Given the description of an element on the screen output the (x, y) to click on. 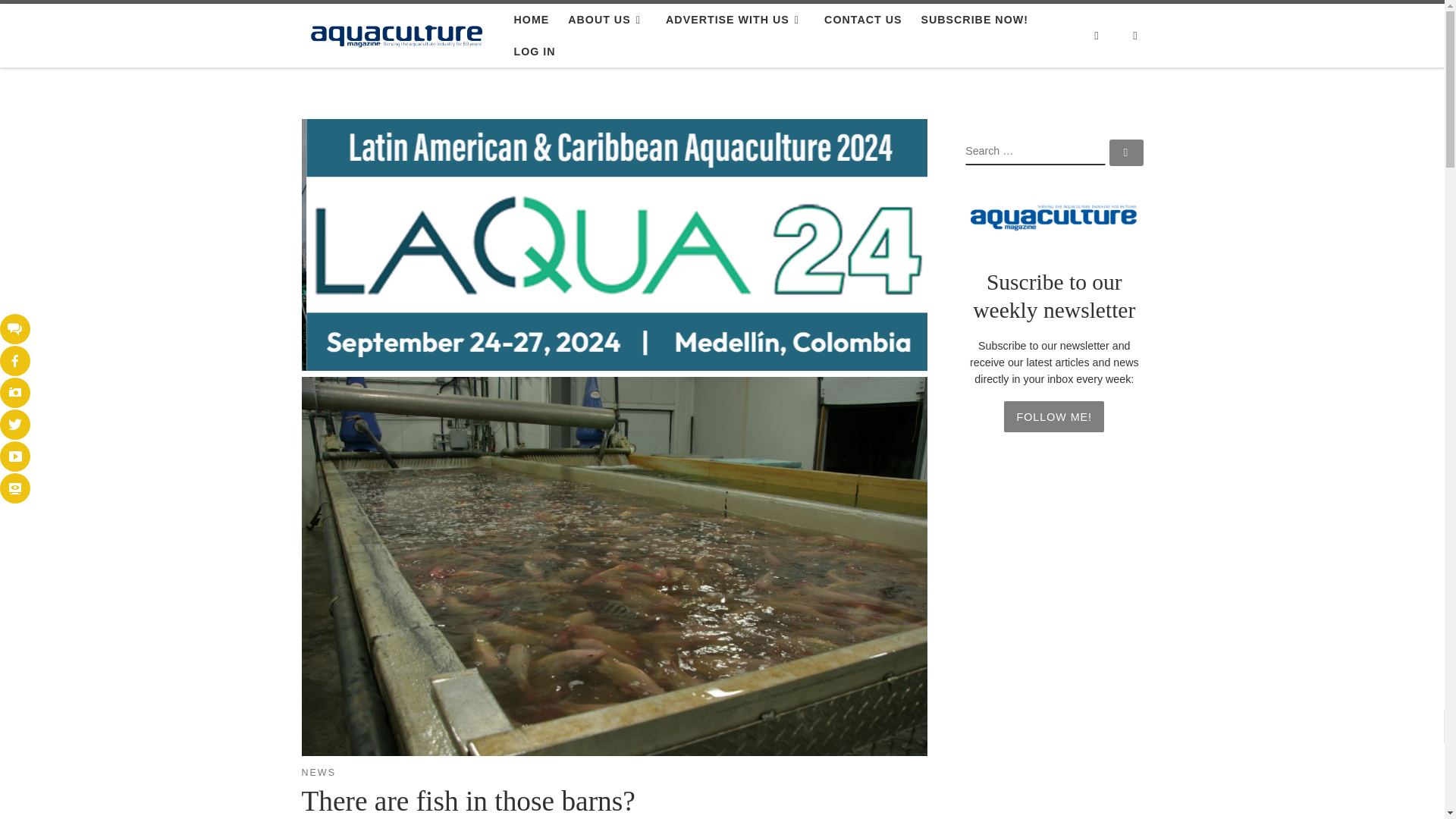
ADVERTISE WITH US (735, 20)
HOME (530, 20)
Saltar al contenido (70, 20)
SUBSCRIBE NOW! (973, 20)
CONTACT US (863, 20)
Follow me! (1053, 416)
LOG IN (534, 51)
ABOUT US (606, 20)
Search (1096, 35)
View your shopping cart (1135, 35)
